Given the description of an element on the screen output the (x, y) to click on. 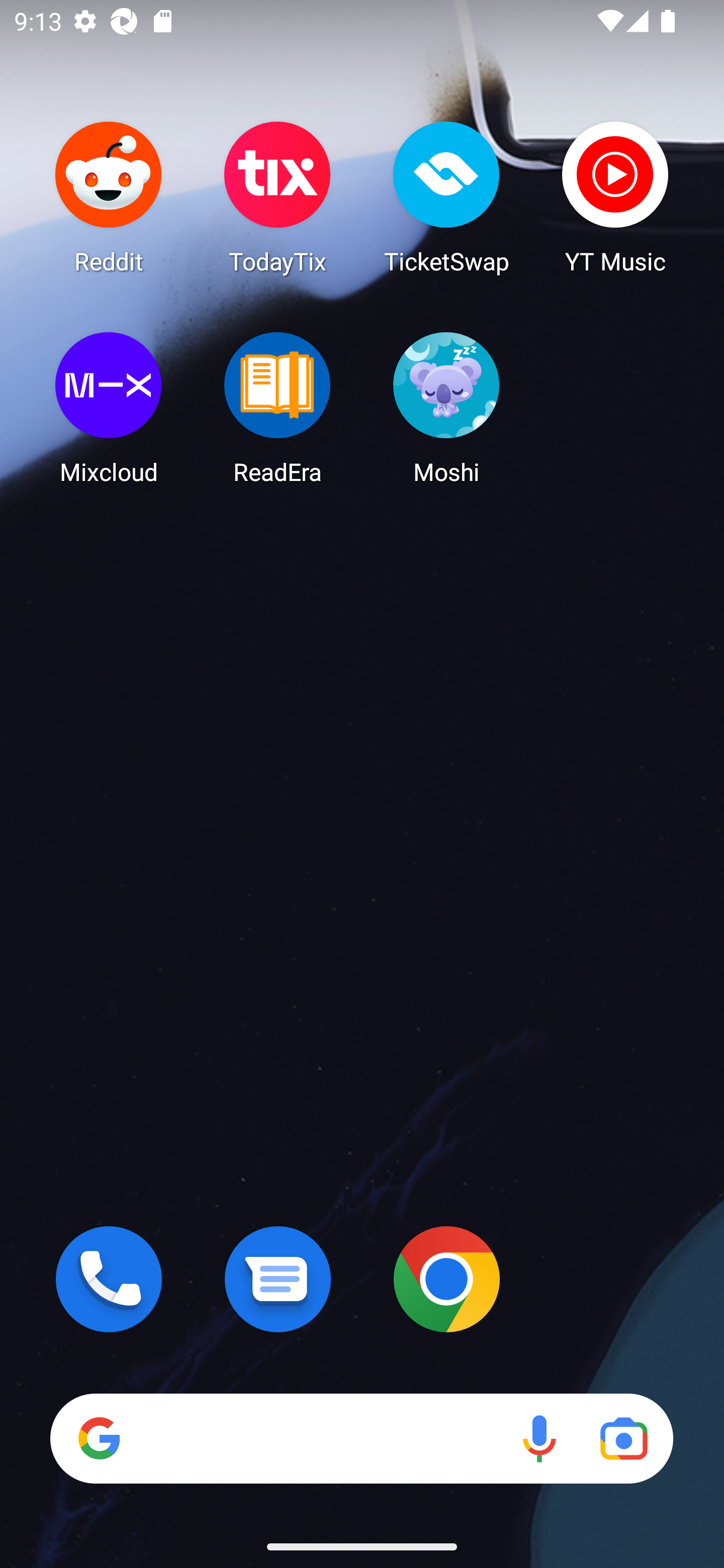
Reddit (108, 196)
TodayTix (277, 196)
TicketSwap (445, 196)
YT Music (615, 196)
Mixcloud (108, 407)
ReadEra (277, 407)
Moshi (445, 407)
Phone (108, 1279)
Messages (277, 1279)
Chrome (446, 1279)
Voice search (539, 1438)
Google Lens (623, 1438)
